Given the description of an element on the screen output the (x, y) to click on. 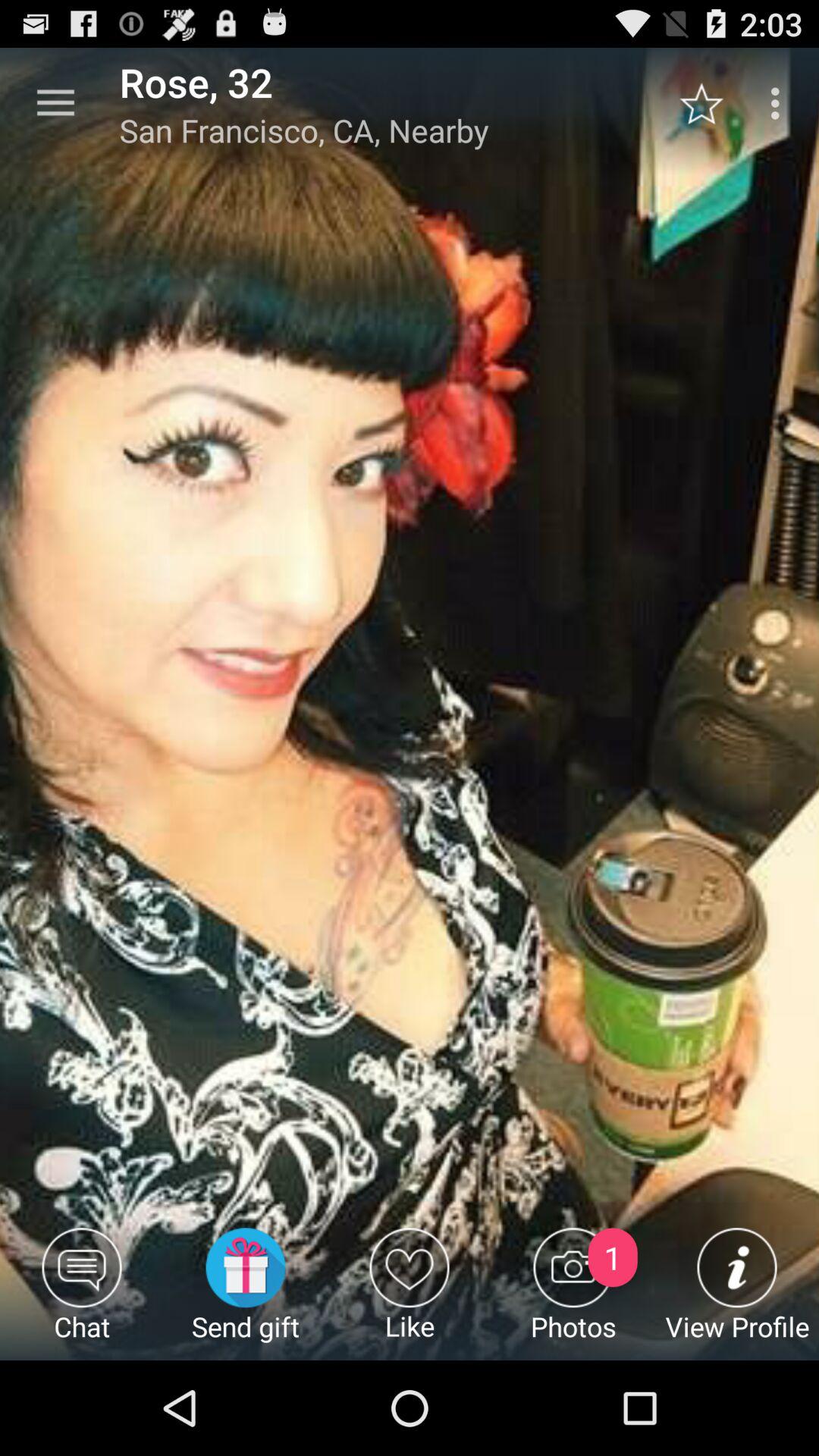
turn off the item above view profile item (779, 103)
